Given the description of an element on the screen output the (x, y) to click on. 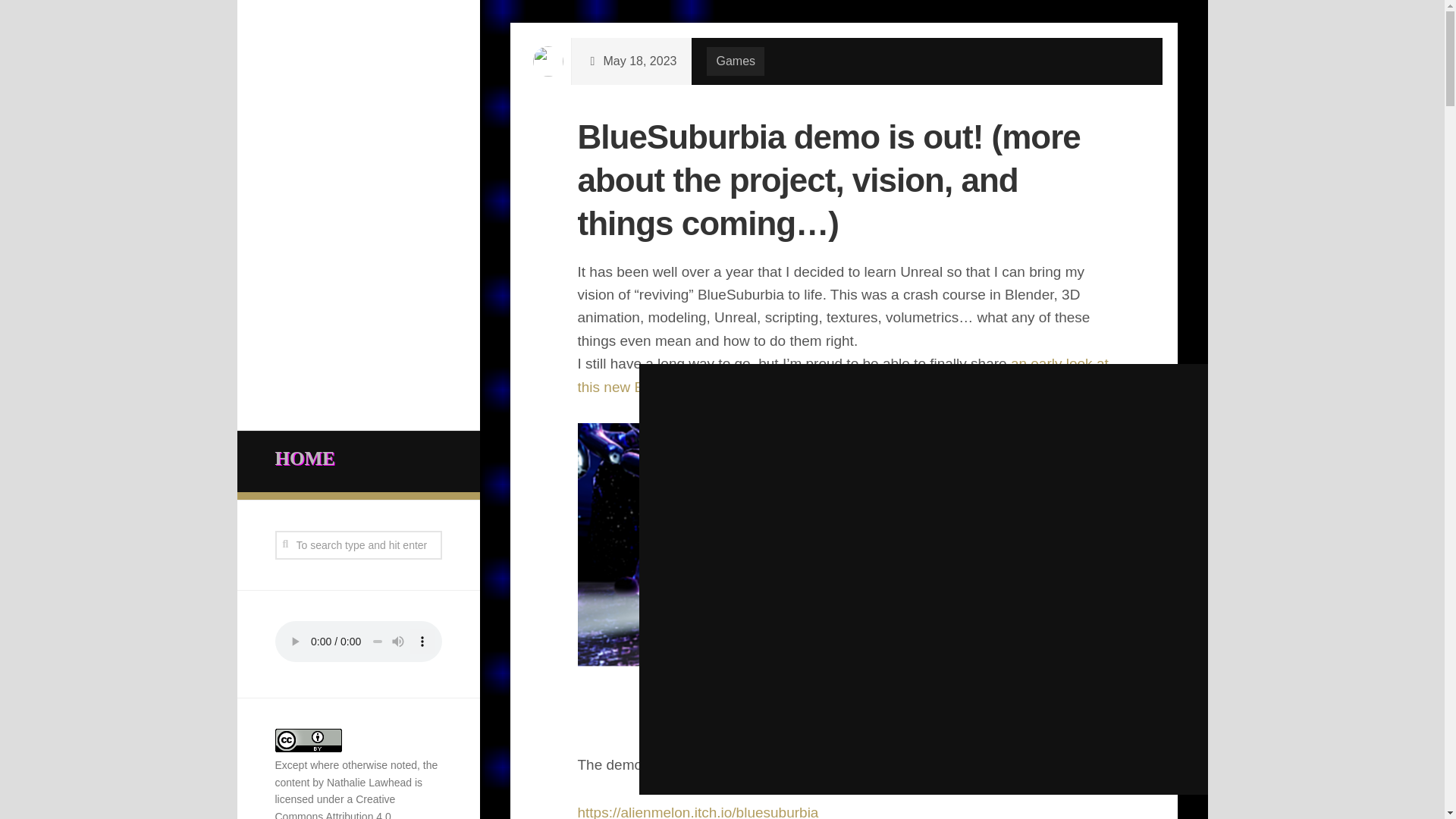
Creative Commons Attribution 4.0 International (334, 806)
To search type and hit enter (358, 544)
The Candybox Blog (989, 418)
HOME (358, 458)
Nathalie Lawhead (369, 782)
To search type and hit enter (358, 544)
